Given the description of an element on the screen output the (x, y) to click on. 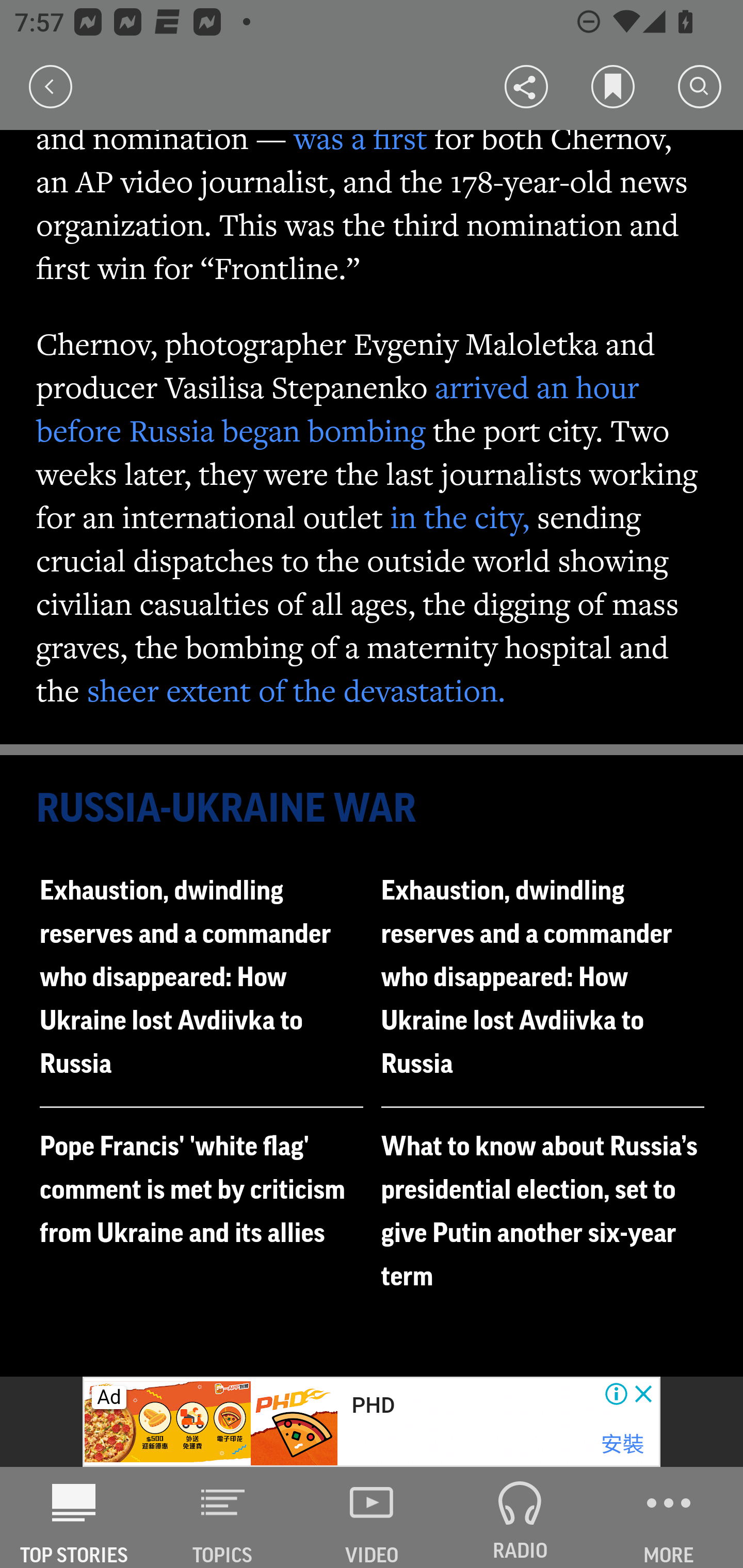
was a first (359, 137)
arrived an hour before Russia began bombing (338, 408)
in the city, (460, 516)
sheer extent of the devastation. (295, 689)
RUSSIA-UKRAINE WAR (372, 808)
B30001746 (168, 1421)
PHD (372, 1405)
安裝 (621, 1444)
AP News TOP STORIES (74, 1517)
TOPICS (222, 1517)
VIDEO (371, 1517)
RADIO (519, 1517)
MORE (668, 1517)
